Given the description of an element on the screen output the (x, y) to click on. 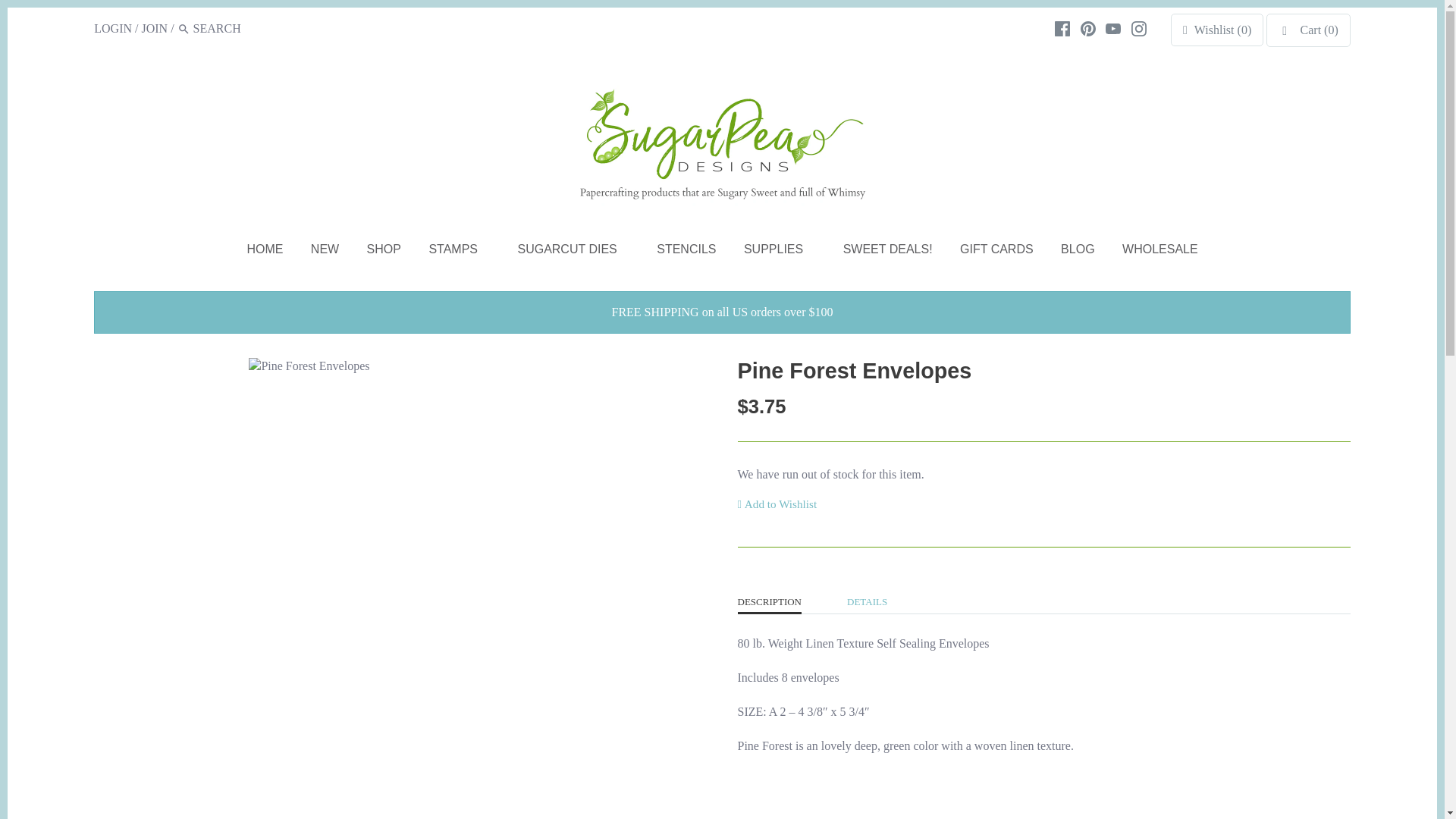
HOME (264, 251)
JOIN (154, 28)
SUGARCUT DIES (566, 251)
YOUTUBE (1113, 28)
LOGIN (113, 28)
STAMPS (452, 251)
Search (183, 29)
STENCILS (686, 251)
SHOP (384, 251)
SUPPLIES (773, 251)
PINTEREST (1088, 28)
INSTAGRAM (1139, 28)
FACEBOOK (1062, 28)
NEW (324, 251)
